Given the description of an element on the screen output the (x, y) to click on. 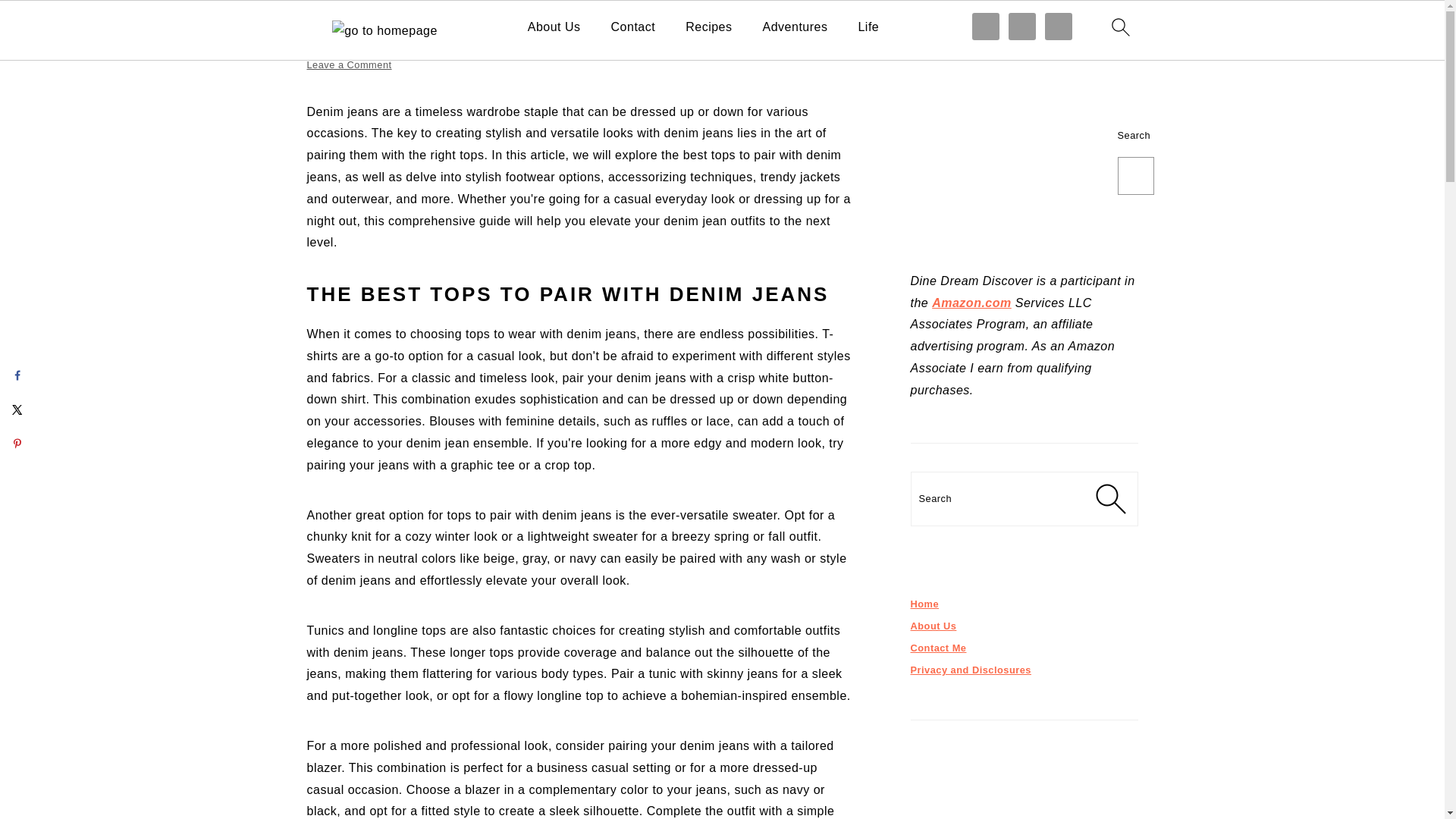
Recipes (708, 26)
Share on X (16, 409)
Adventures (795, 26)
Save to Pinterest (16, 442)
Life (868, 26)
Share on Facebook (16, 374)
Contact (633, 26)
search icon (1119, 26)
About Us (553, 26)
